Given the description of an element on the screen output the (x, y) to click on. 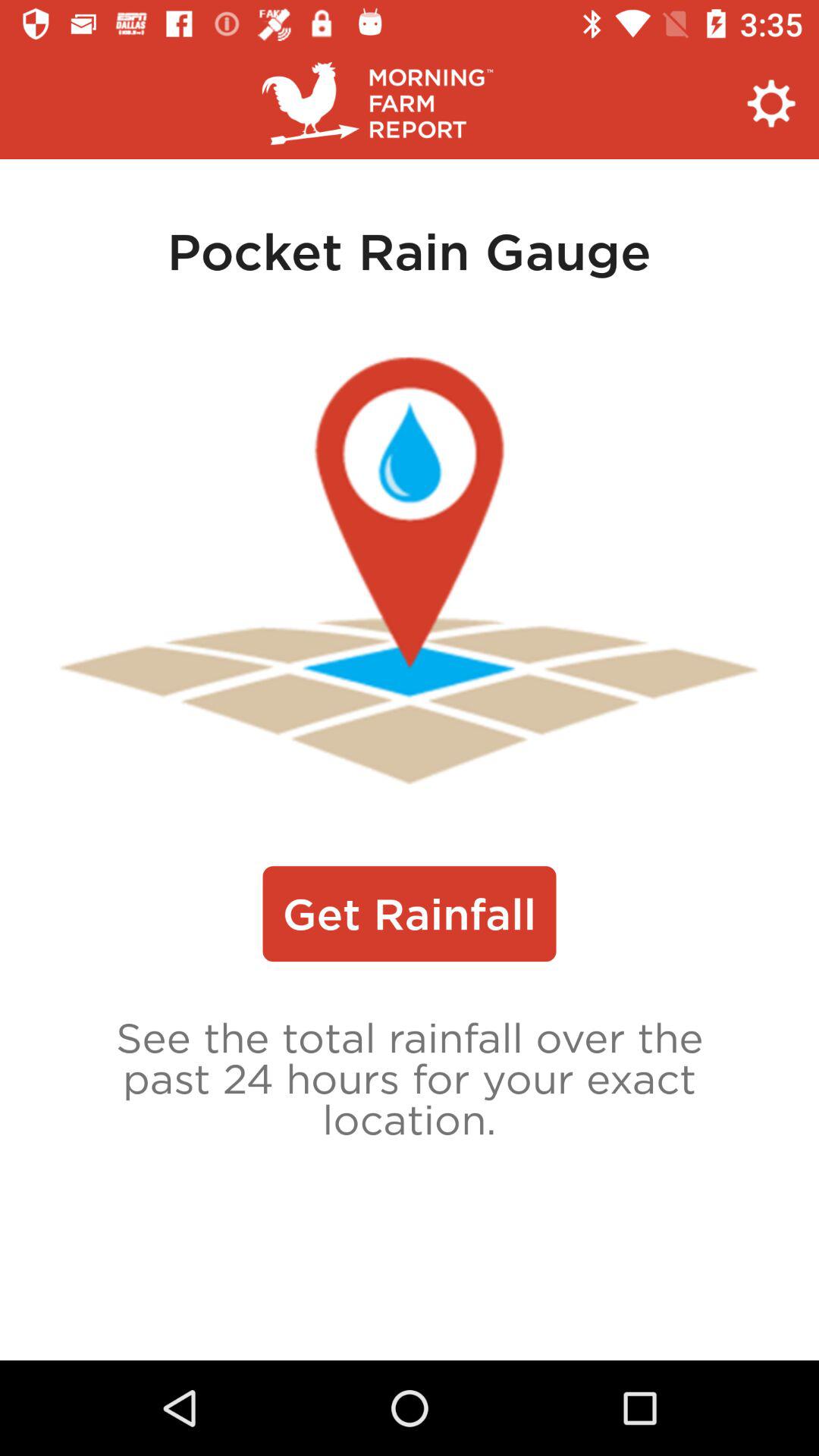
tap the icon above see the total icon (409, 913)
